Given the description of an element on the screen output the (x, y) to click on. 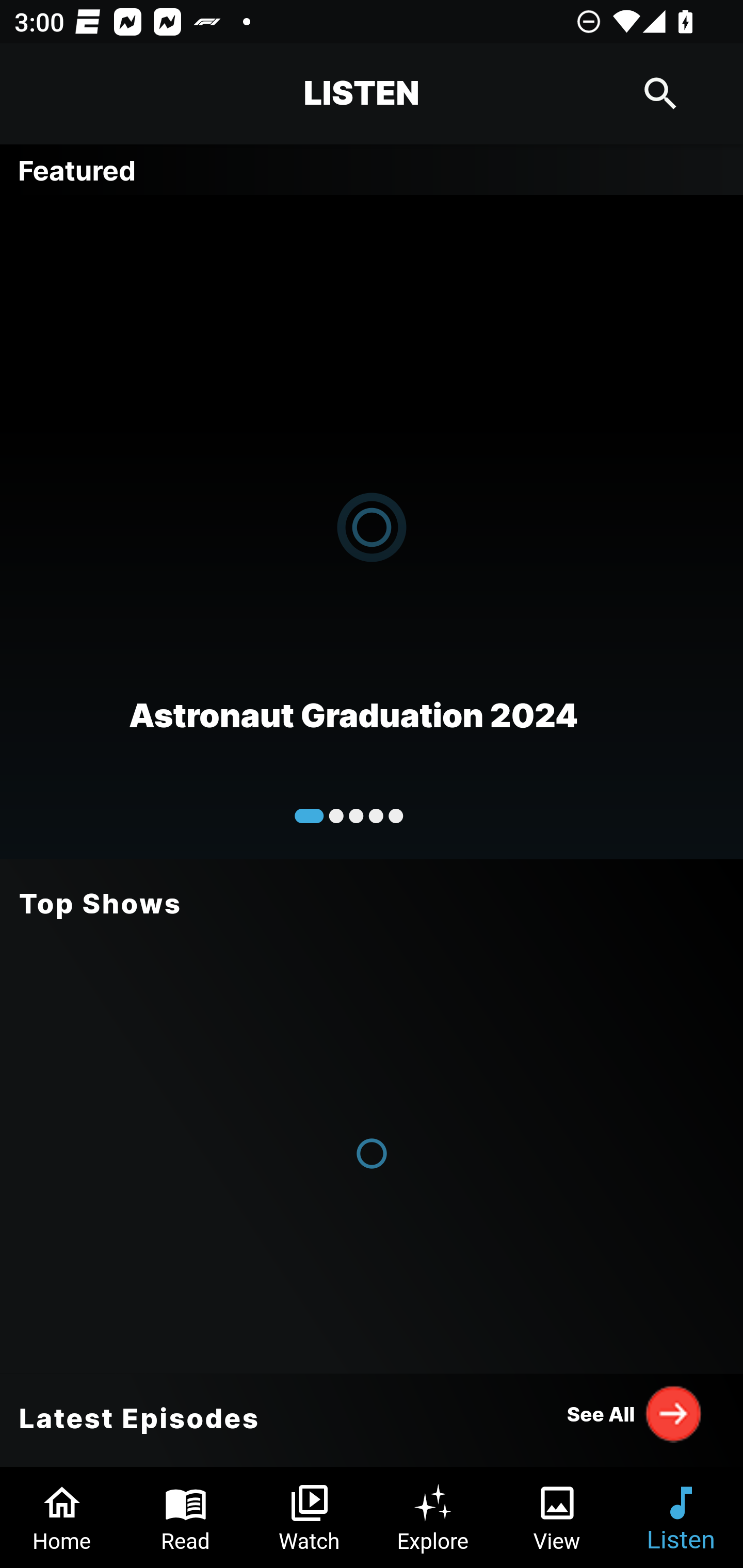
Astronaut Graduation 2024 (371, 526)
See All (634, 1413)
Home
Tab 1 of 6 (62, 1517)
Read
Tab 2 of 6 (185, 1517)
Watch
Tab 3 of 6 (309, 1517)
Explore
Tab 4 of 6 (433, 1517)
View
Tab 5 of 6 (556, 1517)
Listen
Tab 6 of 6 (680, 1517)
